Given the description of an element on the screen output the (x, y) to click on. 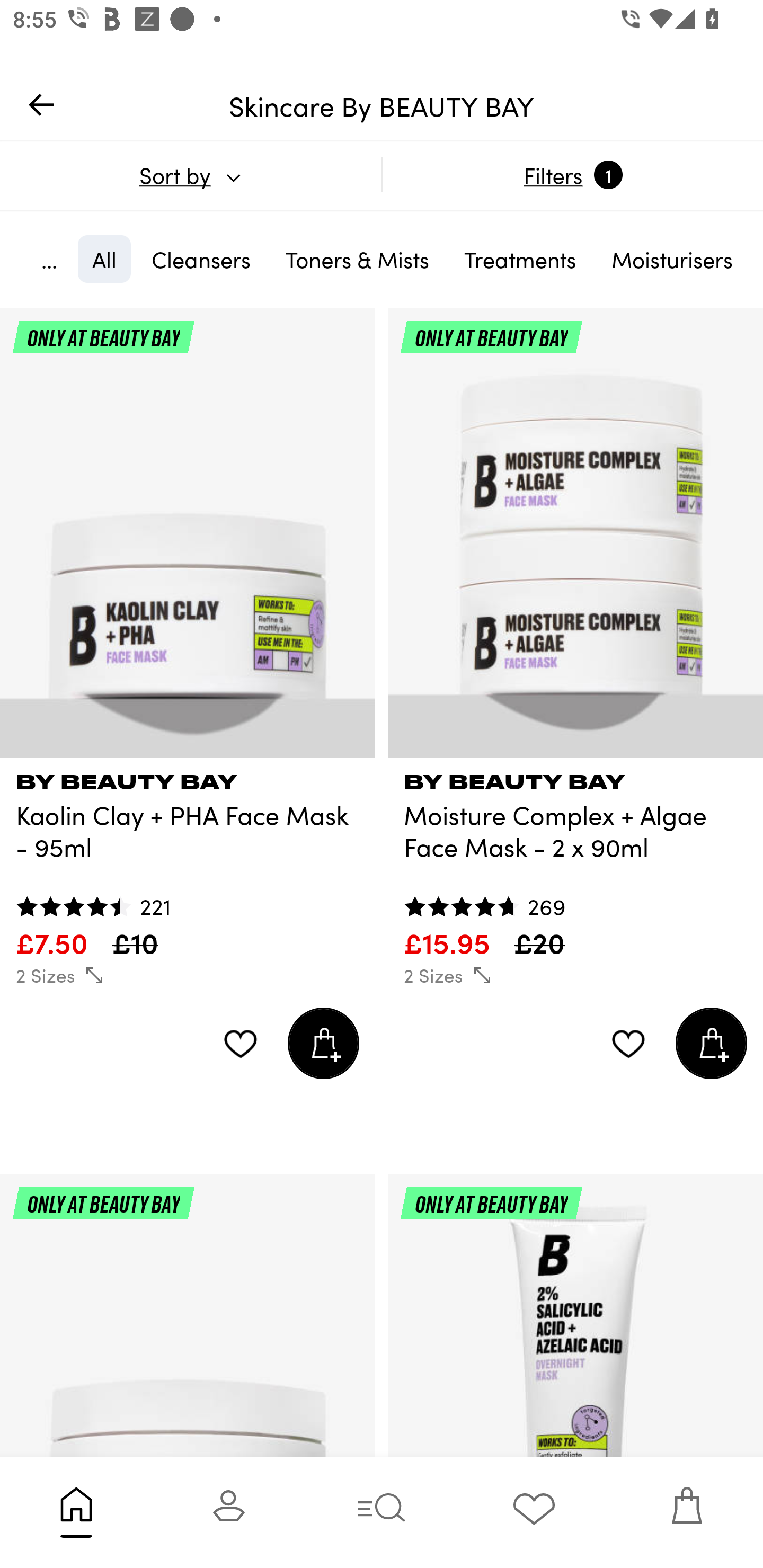
Sort by (190, 174)
Filters 1 (572, 174)
... (48, 258)
All (104, 258)
Cleansers (200, 258)
Toners & Mists (357, 258)
Treatments (520, 258)
Moisturisers (671, 258)
